Given the description of an element on the screen output the (x, y) to click on. 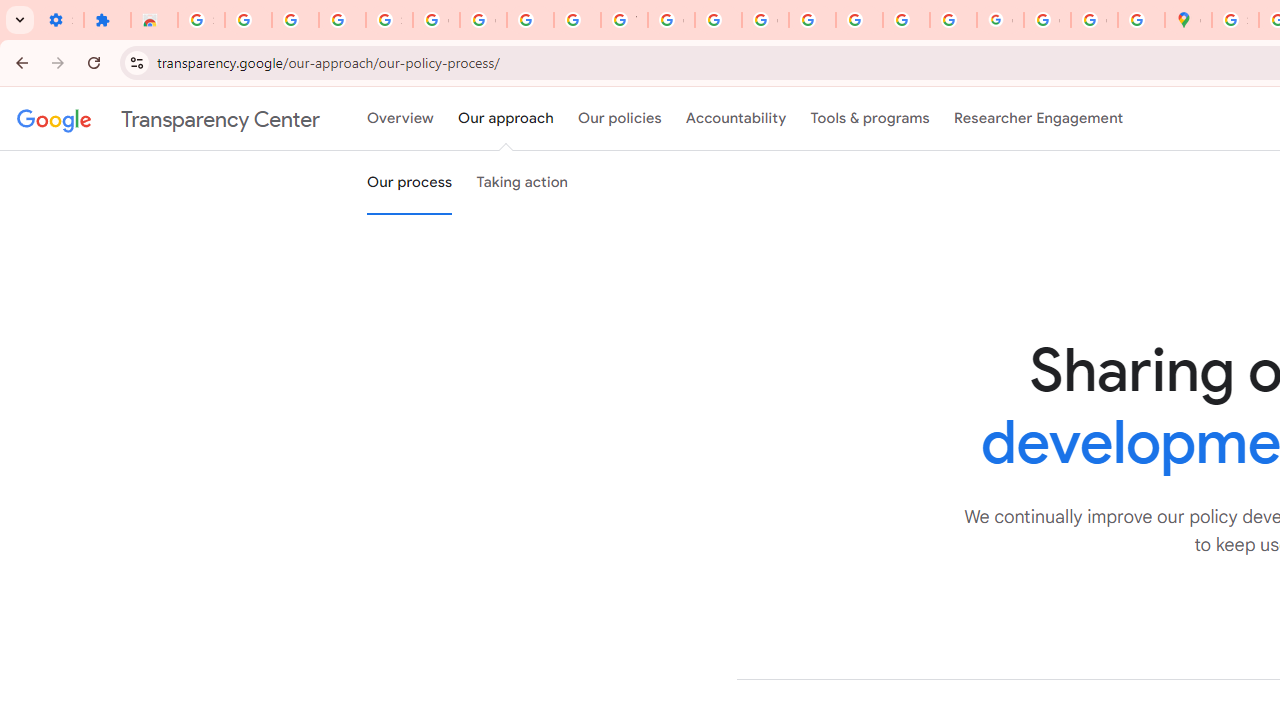
Sign in - Google Accounts (389, 20)
Researcher Engagement (1038, 119)
Extensions (107, 20)
https://scholar.google.com/ (718, 20)
